Given the description of an element on the screen output the (x, y) to click on. 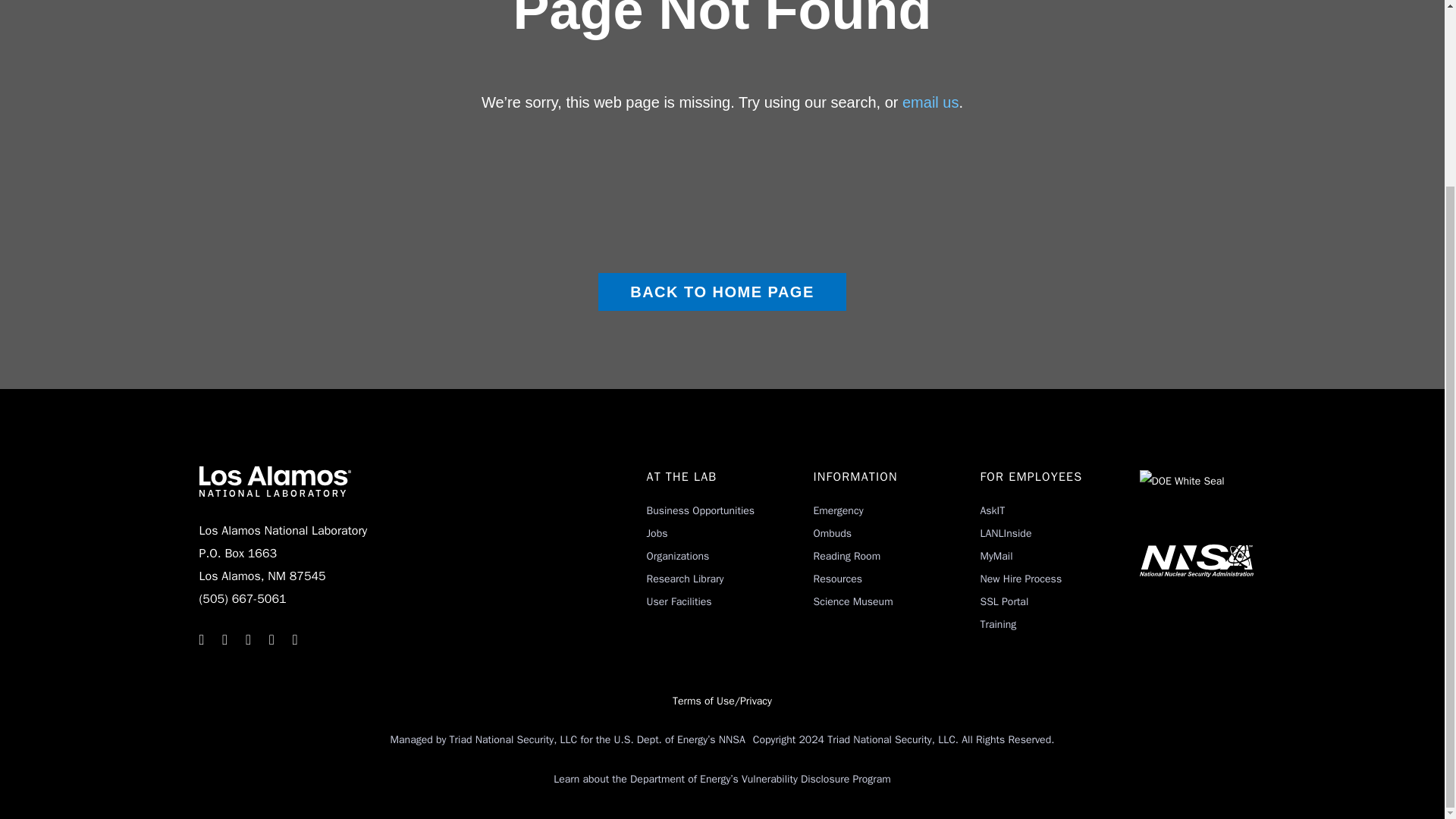
Resources (836, 578)
Emergency (837, 510)
AskIT (991, 510)
Research Library (684, 578)
Business Opportunities (700, 510)
Ombuds (831, 533)
User Facilities (678, 601)
Jobs (656, 533)
BACK TO HOME PAGE (721, 291)
Organizations (677, 555)
